Given the description of an element on the screen output the (x, y) to click on. 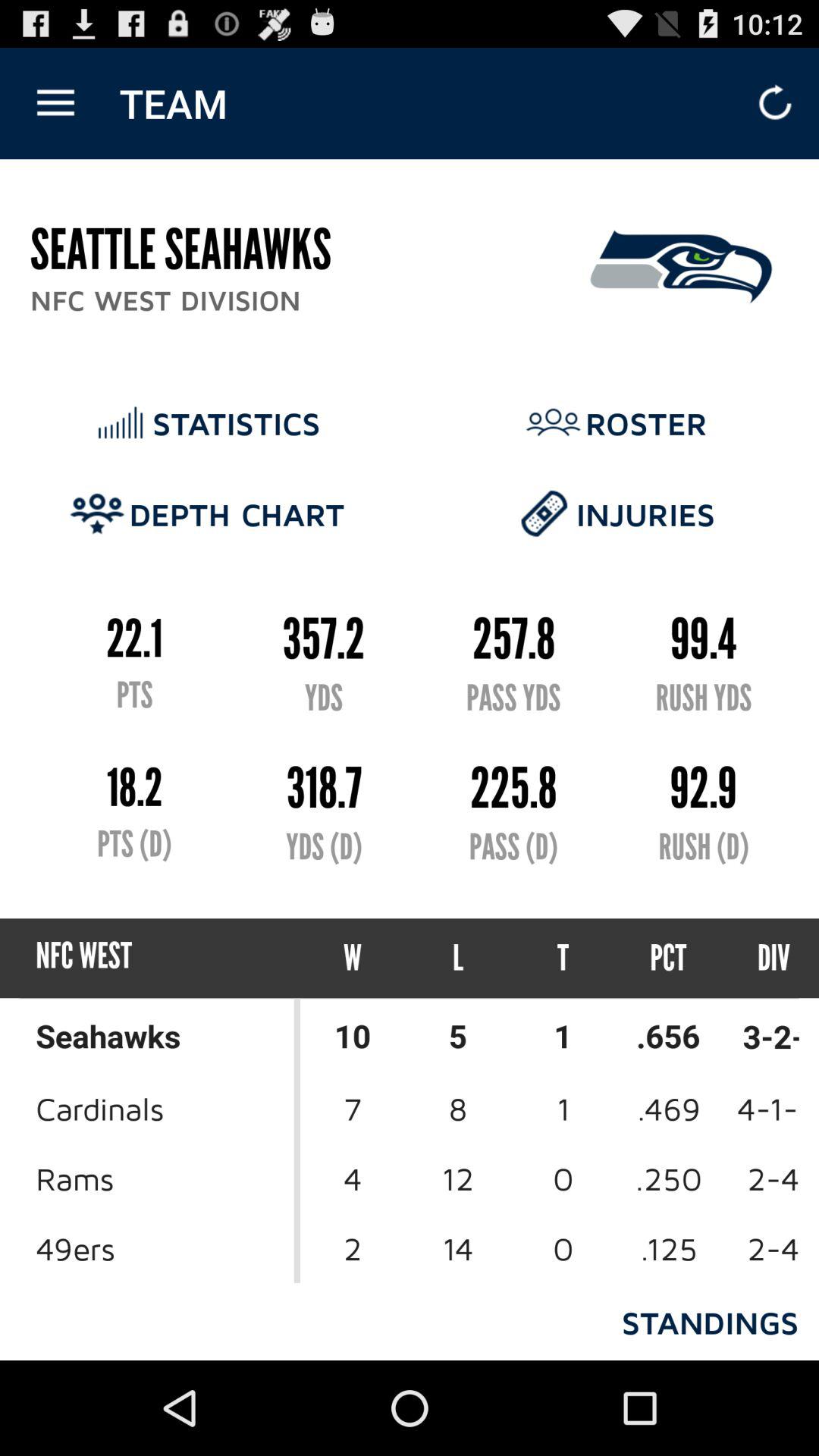
turn off the icon to the left of the team icon (55, 103)
